Given the description of an element on the screen output the (x, y) to click on. 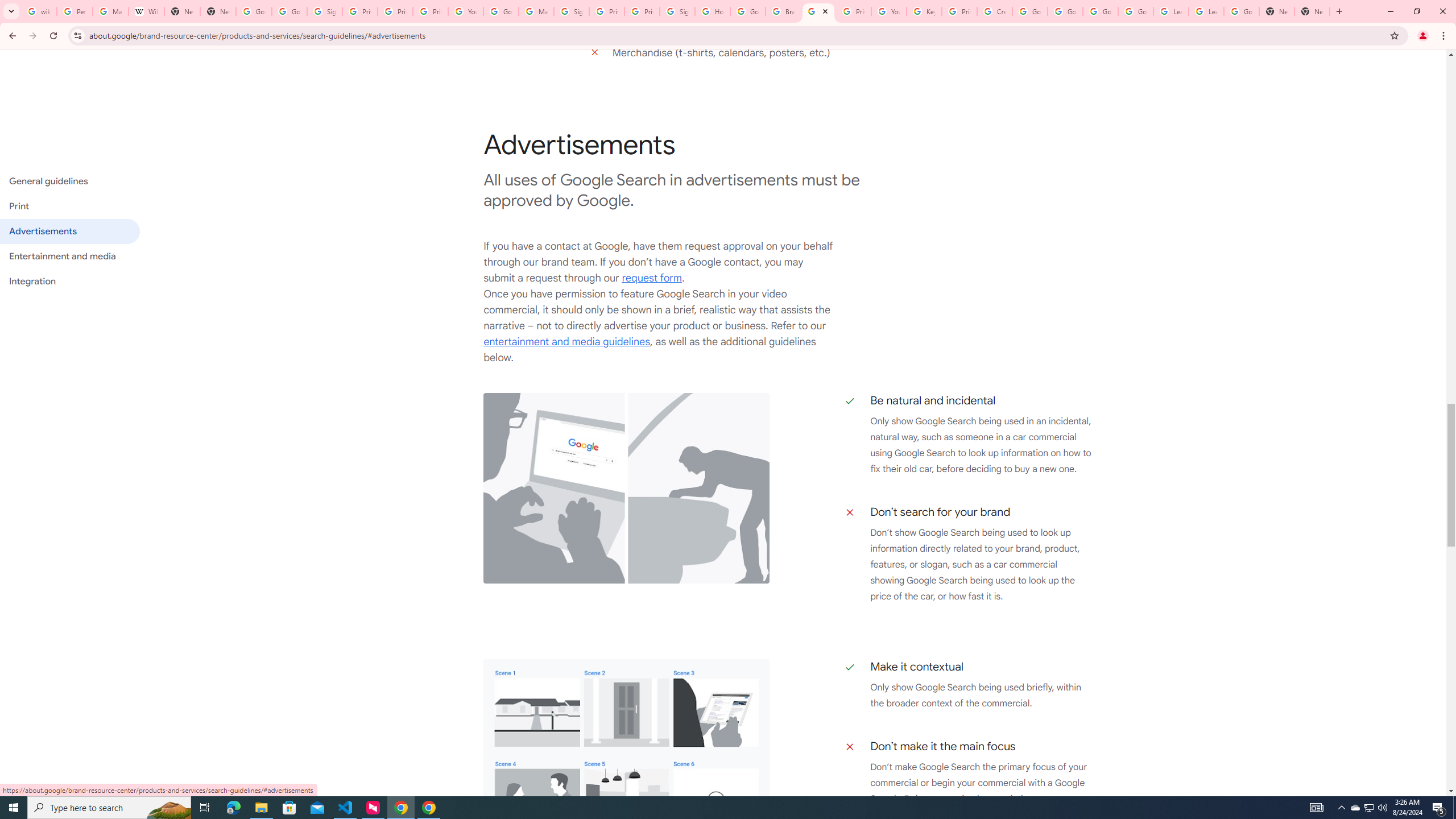
request form (651, 278)
YouTube (465, 11)
New Tab (218, 11)
Google Account Help (1099, 11)
Sign in - Google Accounts (324, 11)
Wikipedia:Edit requests - Wikipedia (145, 11)
Google Drive: Sign-in (288, 11)
